Given the description of an element on the screen output the (x, y) to click on. 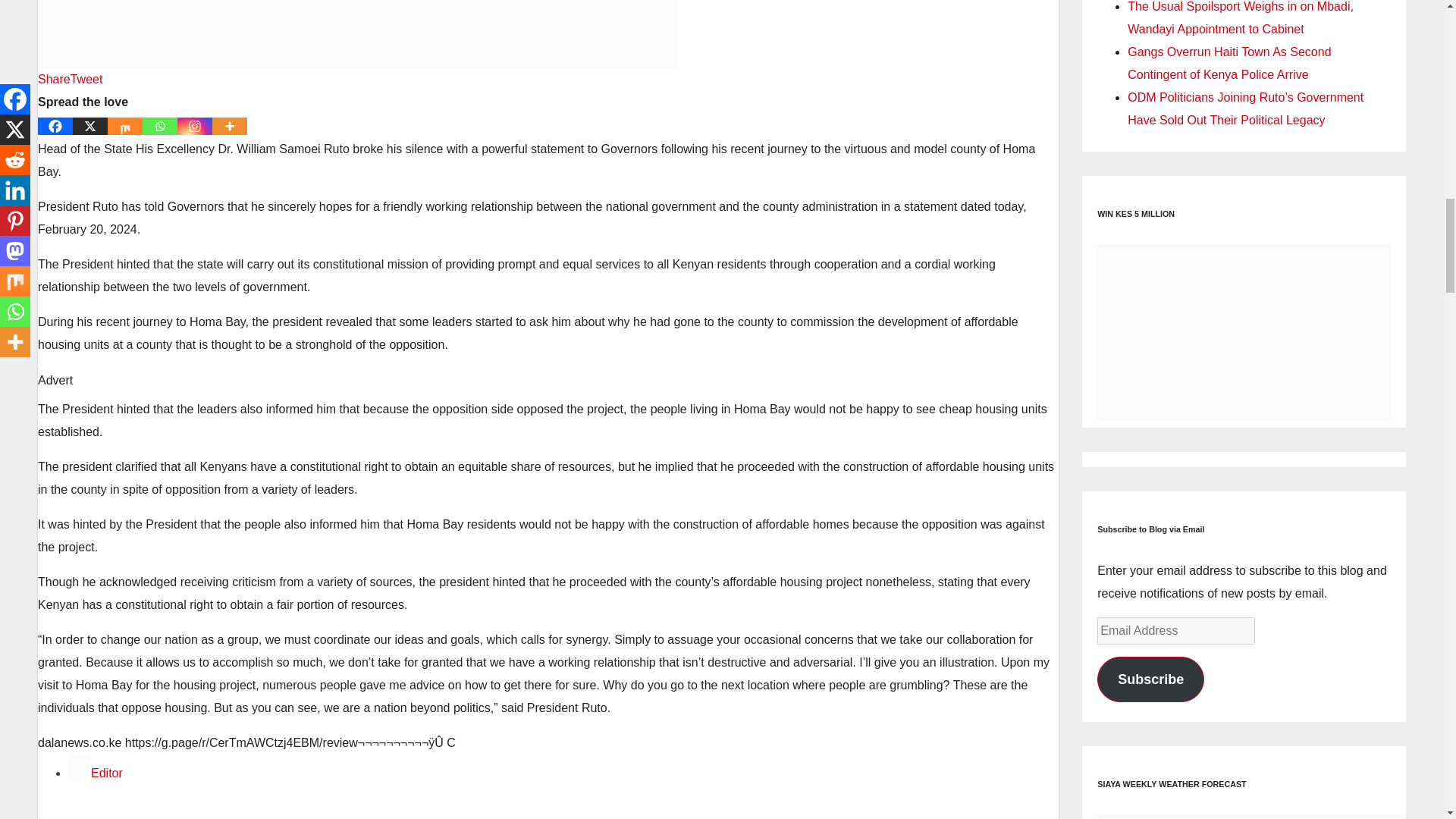
Share (53, 78)
Mix (124, 126)
X (89, 126)
Facebook (54, 126)
Whatsapp (159, 126)
Tweet (86, 78)
Editor (106, 772)
More (229, 126)
Instagram (194, 126)
Editor (106, 772)
